Given the description of an element on the screen output the (x, y) to click on. 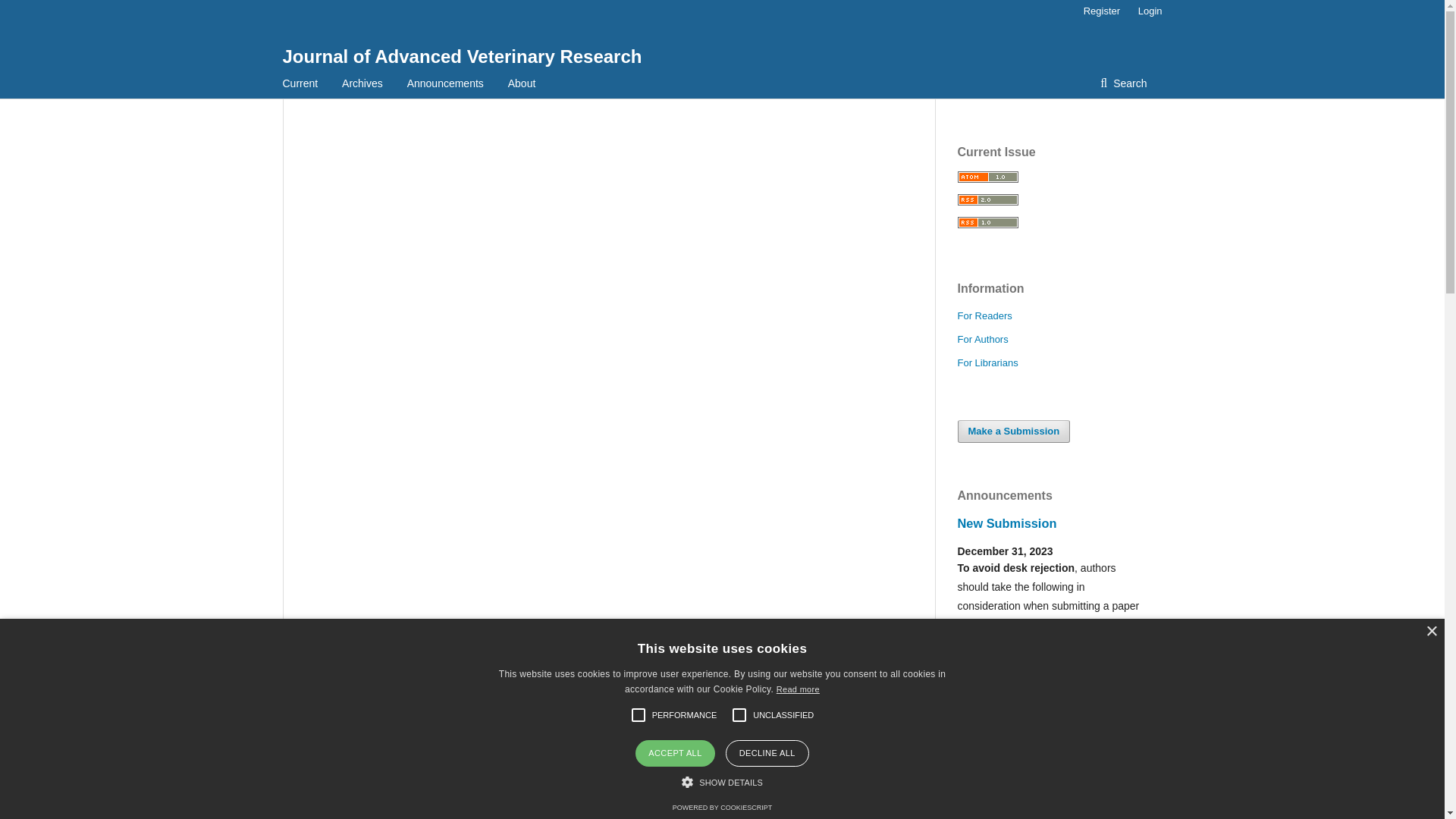
Login (1146, 11)
Advertisement (607, 228)
Archives (368, 709)
Search (1122, 82)
Home (317, 709)
About (521, 82)
Announcements (445, 82)
Archives (362, 82)
Journal of Advanced Veterinary Research (462, 56)
Current (299, 82)
Register (1100, 11)
Consent Management Platform (721, 807)
